Given the description of an element on the screen output the (x, y) to click on. 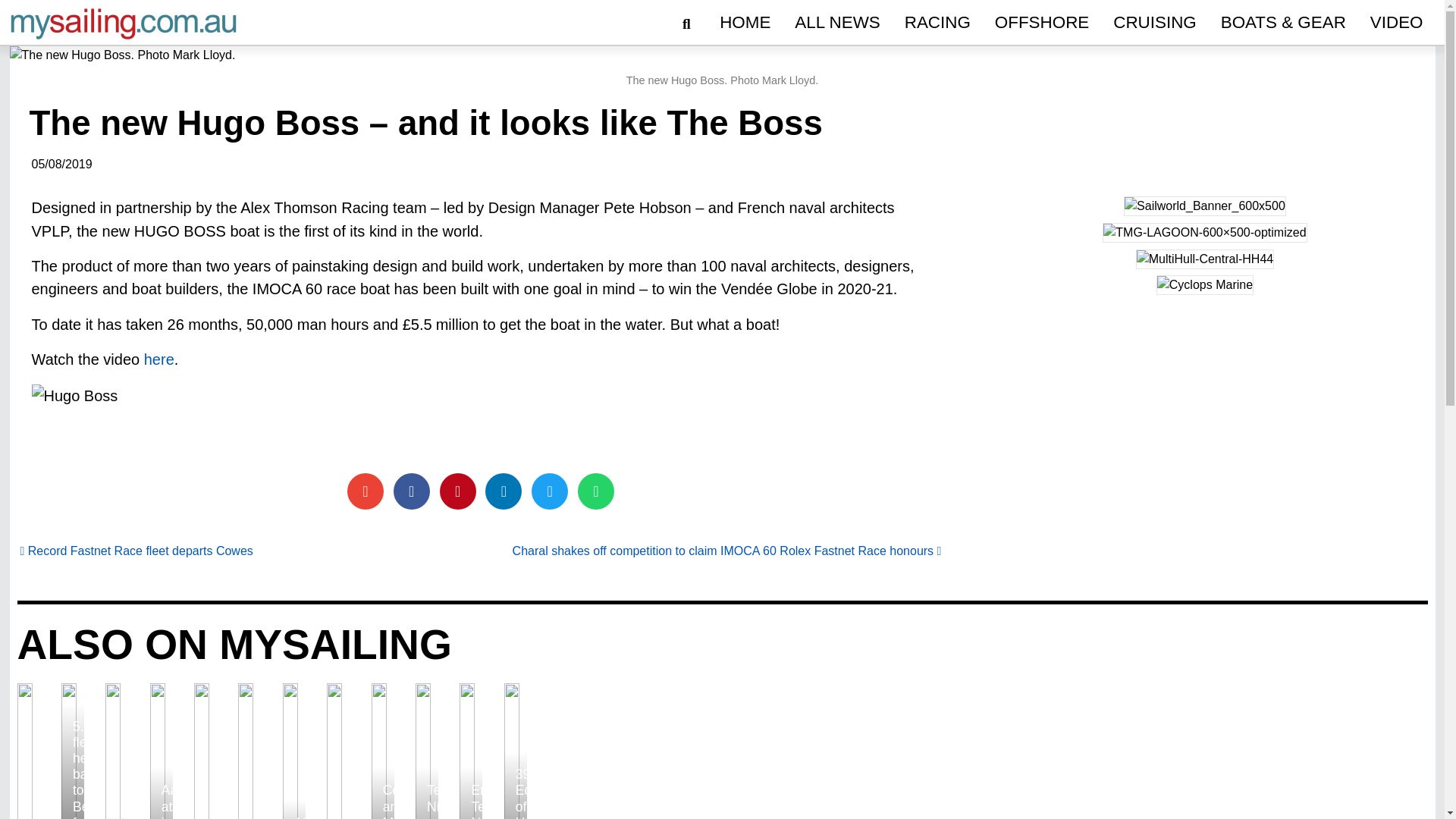
Racing (937, 22)
All News (837, 22)
Share by Email (365, 491)
 Record Fastnet Race fleet departs Cowes (135, 550)
RACING (937, 22)
here (159, 359)
Cruising (1154, 22)
Video (1396, 22)
HOME (744, 22)
